Given the description of an element on the screen output the (x, y) to click on. 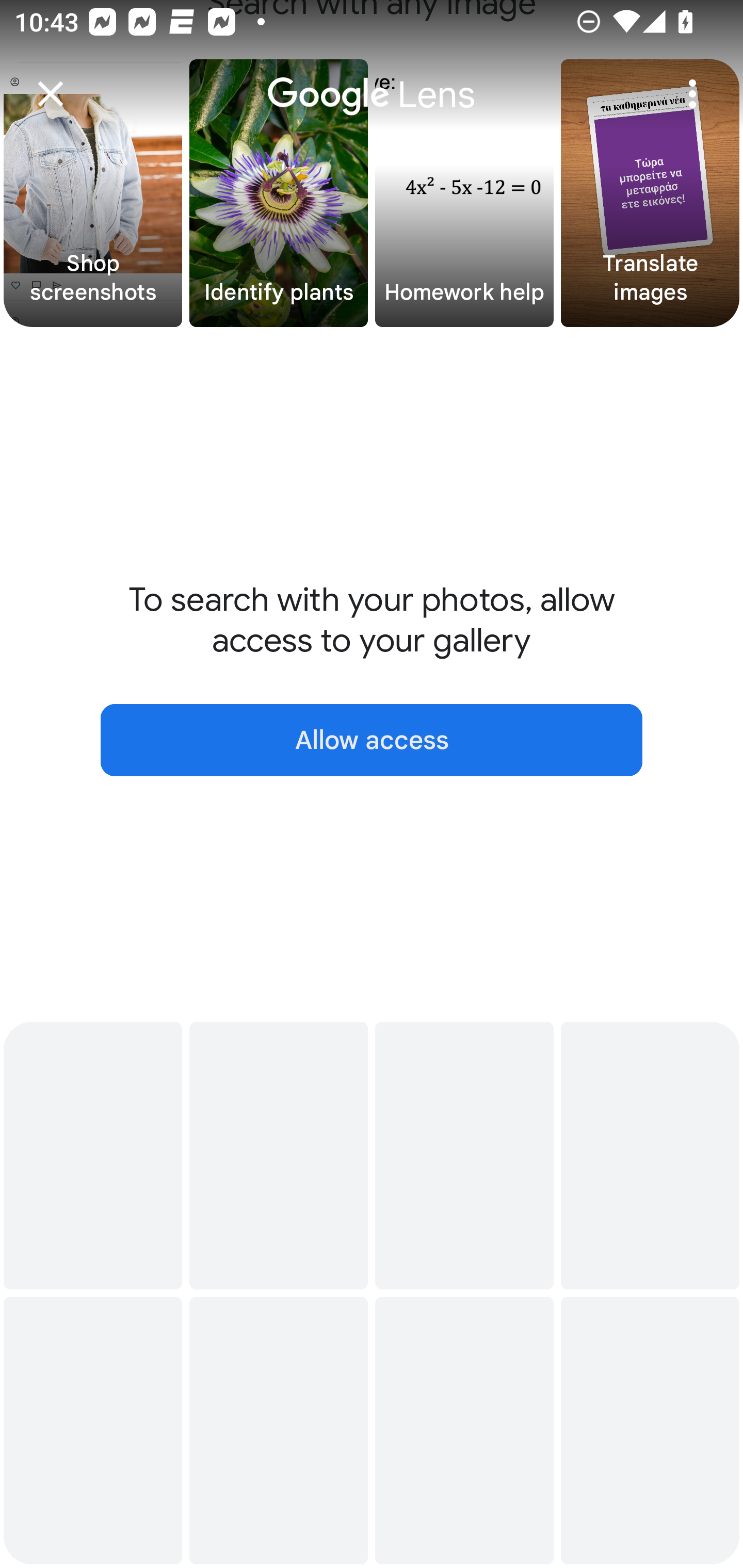
Close (50, 94)
More options (692, 94)
Shop screenshots (92, 193)
Identify plants (278, 193)
Homework help (464, 193)
Translate images (649, 193)
Allow access (371, 740)
